Given the description of an element on the screen output the (x, y) to click on. 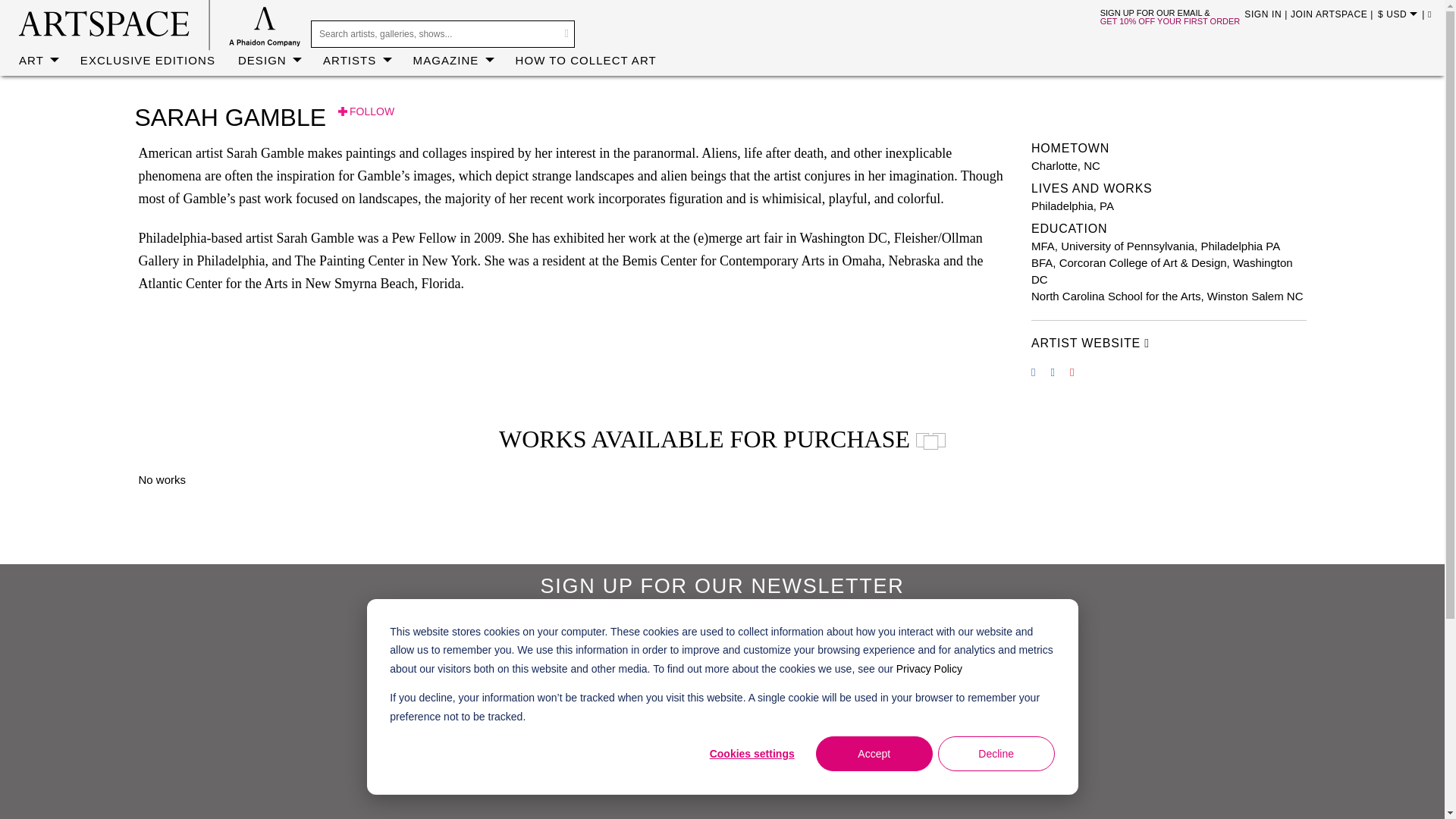
Select Currency (1402, 16)
Form 0 (721, 720)
Slideshow View Works to Scale (929, 441)
